Given the description of an element on the screen output the (x, y) to click on. 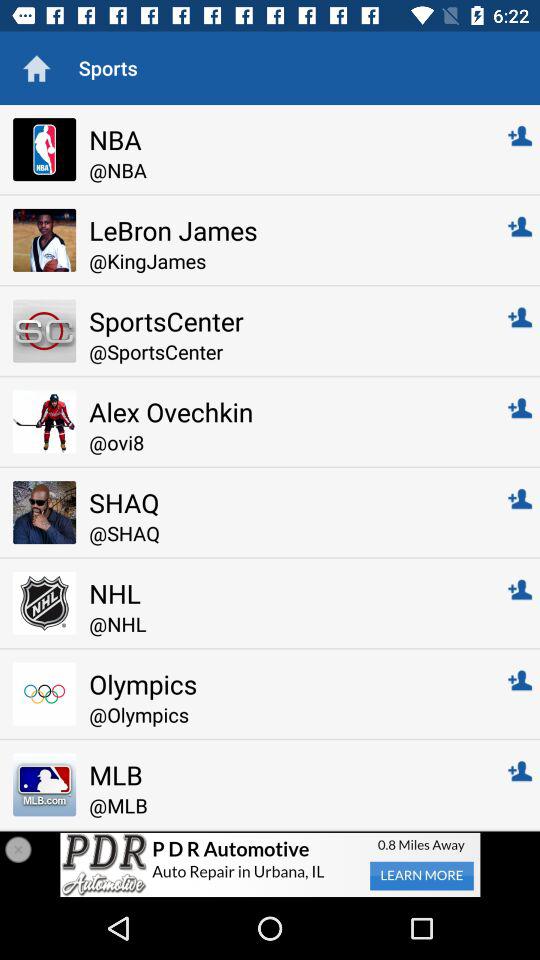
press the @ovi8 icon (284, 442)
